Given the description of an element on the screen output the (x, y) to click on. 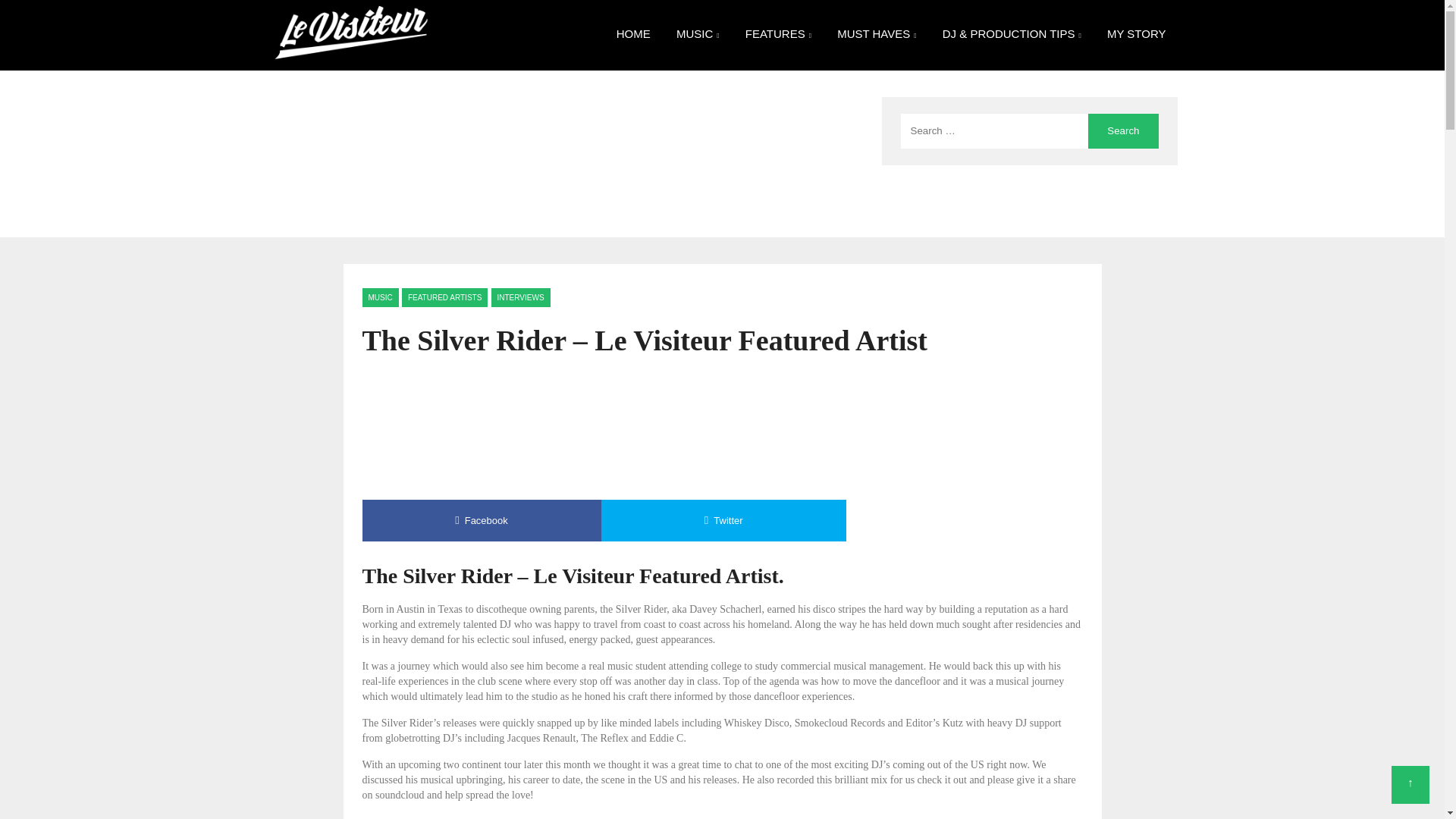
Search (1122, 130)
Search (1122, 130)
MUST HAVES (876, 34)
Le Visiteur Online (349, 9)
Search (1122, 130)
INTERVIEWS (521, 297)
MY STORY (1136, 33)
FEATURES (777, 34)
Twitter (723, 520)
MUSIC (697, 34)
FEATURED ARTISTS (444, 297)
Facebook (481, 520)
MUSIC (380, 297)
